Given the description of an element on the screen output the (x, y) to click on. 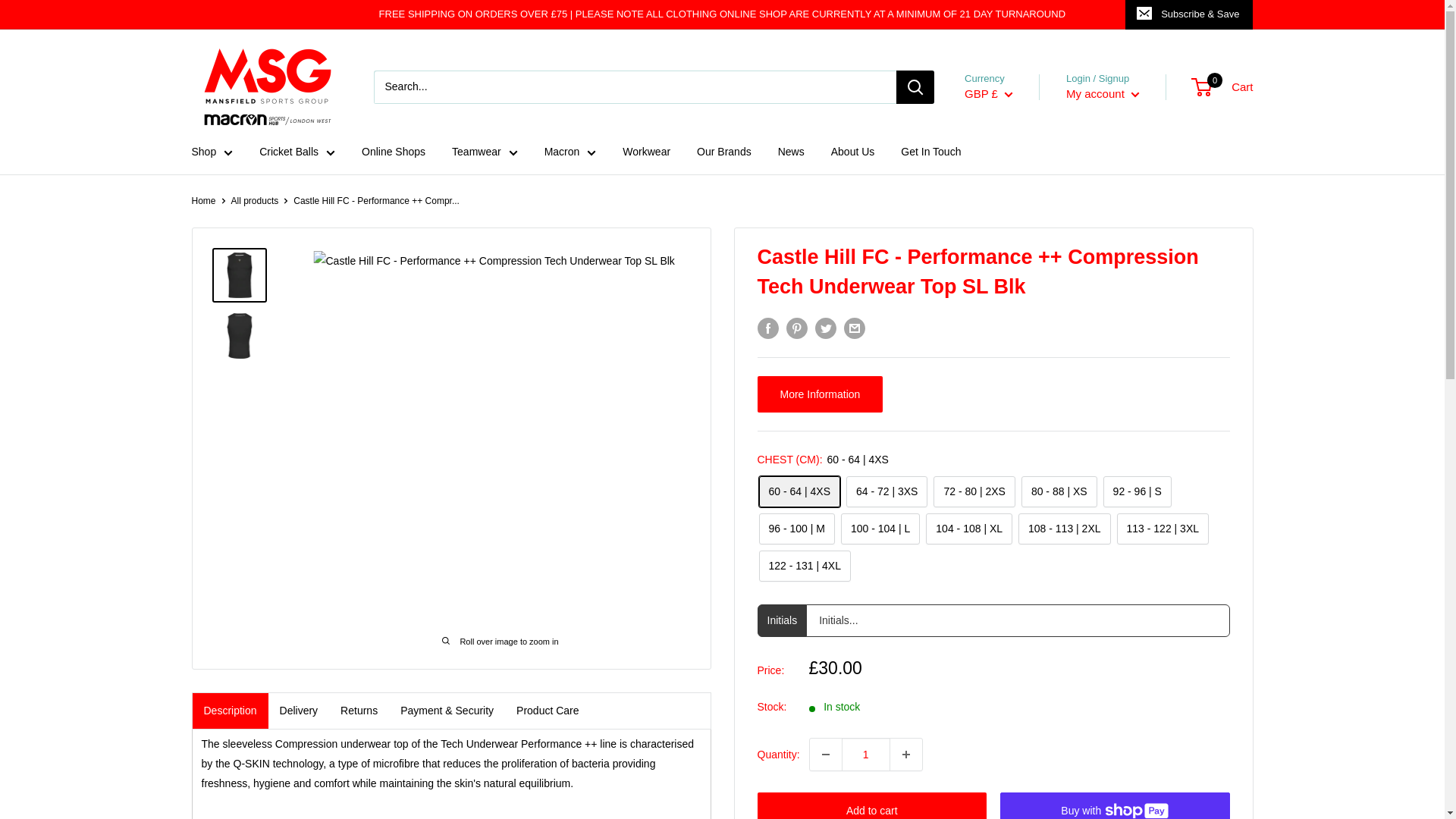
1 (865, 754)
Increase quantity by 1 (905, 754)
Decrease quantity by 1 (825, 754)
